Given the description of an element on the screen output the (x, y) to click on. 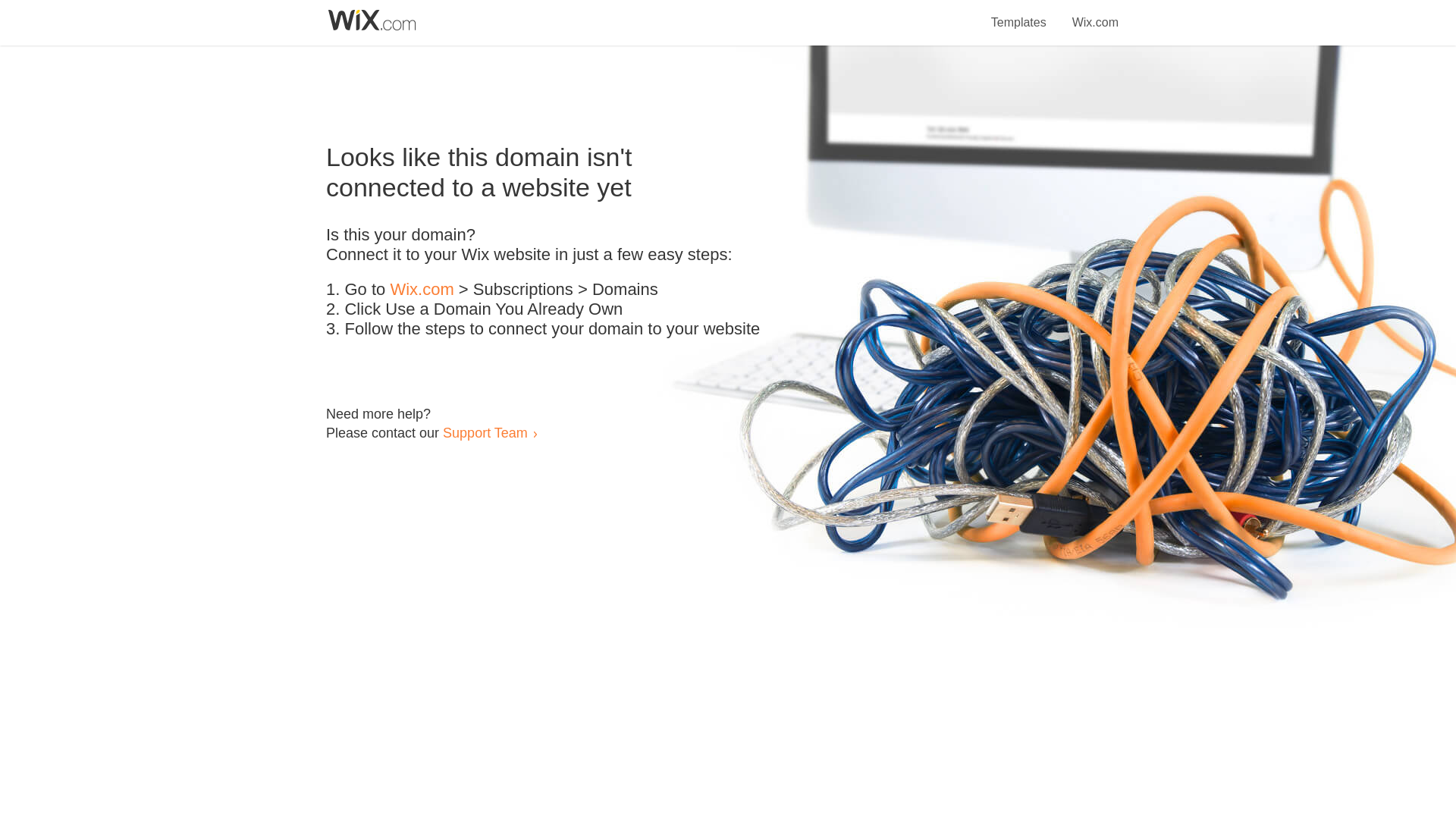
Wix.com (1095, 14)
Support Team (484, 432)
Wix.com (421, 289)
Templates (1018, 14)
